Given the description of an element on the screen output the (x, y) to click on. 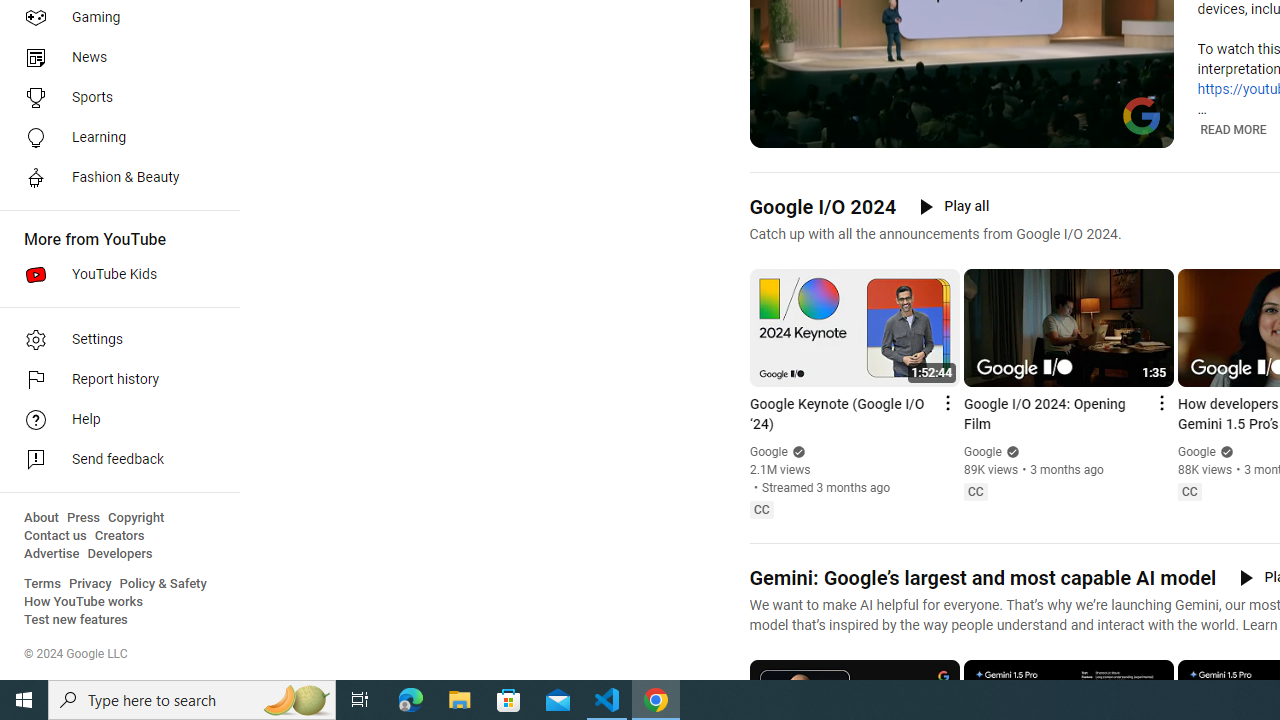
Test new features (76, 620)
Policy & Safety (163, 584)
Channel watermark (1141, 115)
Pause (k) (779, 130)
Start (24, 699)
Full screen (f) (1143, 130)
Search highlights icon opens search home window (295, 699)
Seek slider (961, 109)
Advertise (51, 554)
Subtitles/closed captions unavailable (1071, 130)
Closed captions (1189, 492)
Play all (954, 206)
